Given the description of an element on the screen output the (x, y) to click on. 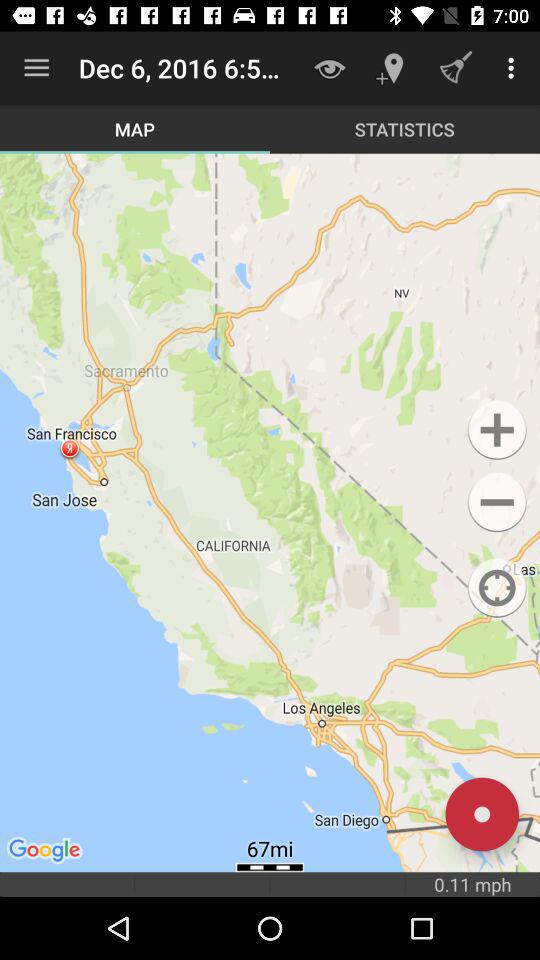
the button is used to advertisement option (496, 429)
